Given the description of an element on the screen output the (x, y) to click on. 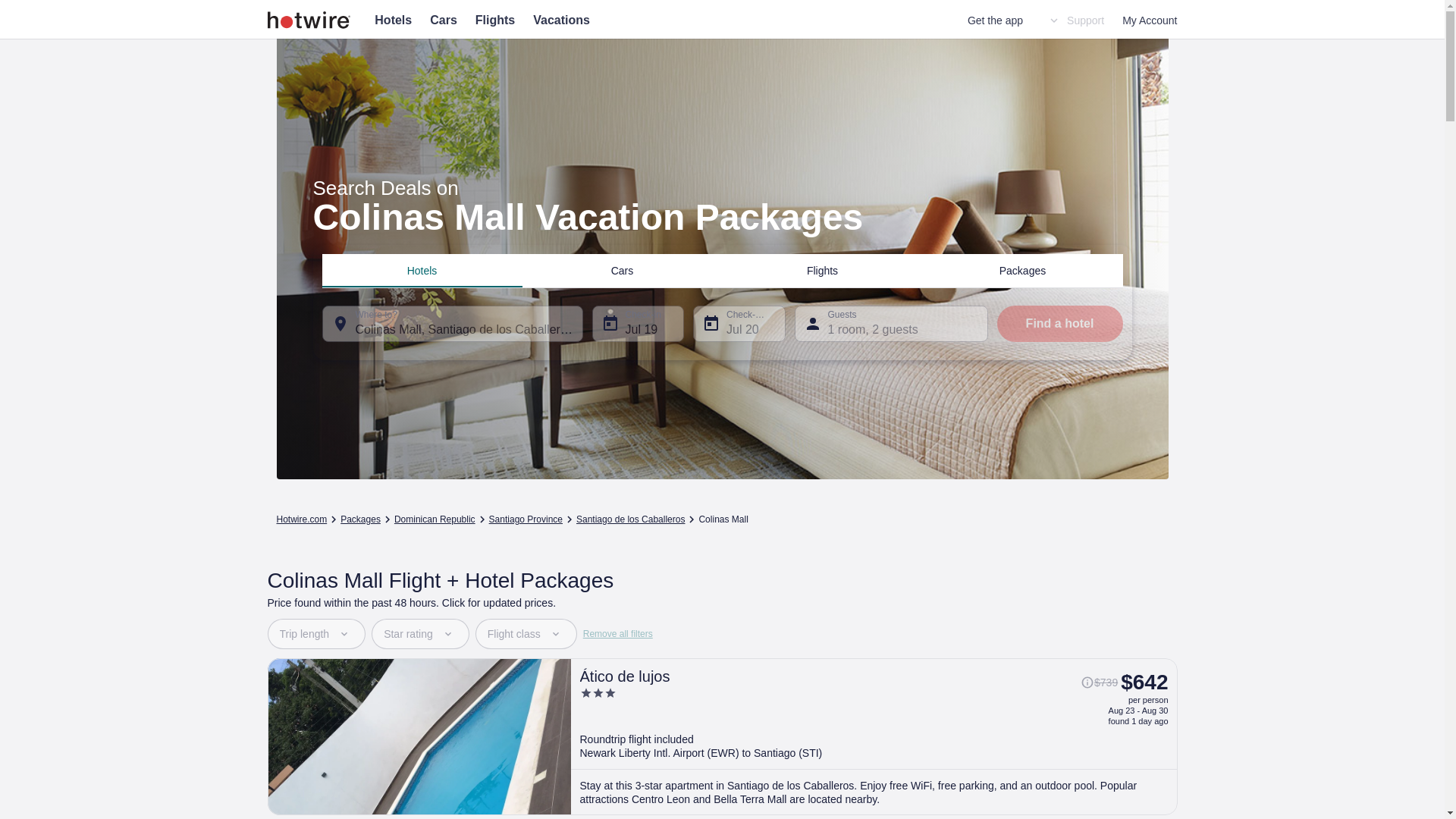
Get the app (995, 20)
Santiago Province (525, 519)
Jul 20 (739, 322)
Flights (821, 269)
Trip length (315, 634)
Vacations (560, 19)
My Account (1149, 20)
Find a hotel (1058, 322)
Hotels (421, 269)
Jul 19 (637, 322)
Star rating (419, 634)
Packages (1021, 269)
1 room, 2 guests (891, 322)
Cars (443, 19)
Hotwire.com (301, 519)
